Given the description of an element on the screen output the (x, y) to click on. 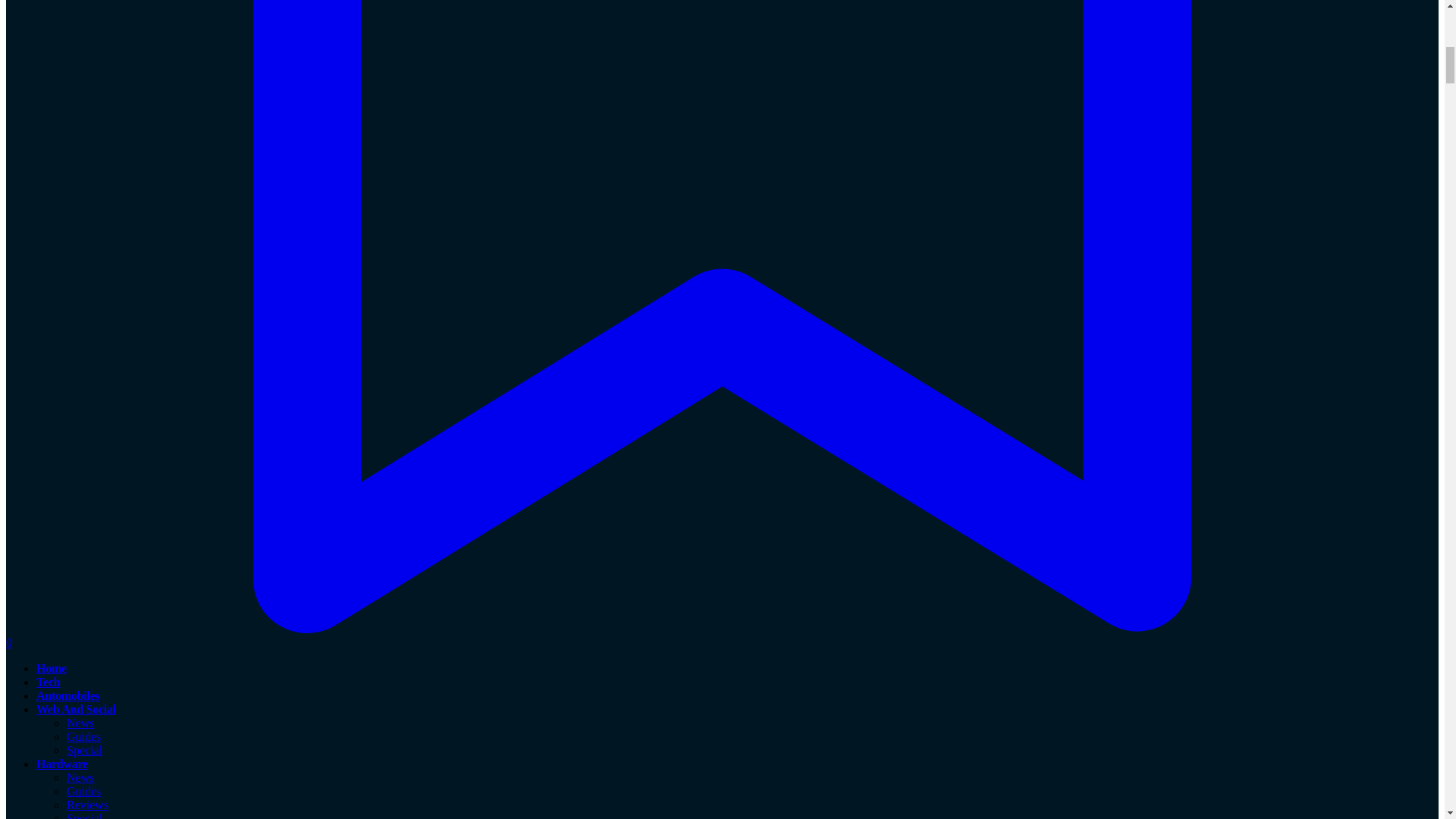
Guides (83, 736)
Special (83, 749)
Automobiles (67, 695)
Hardware (61, 763)
Special (83, 815)
Guides (83, 790)
News (80, 722)
Web And Social (76, 708)
Reviews (86, 804)
Home (51, 667)
Tech (47, 681)
News (80, 777)
